Given the description of an element on the screen output the (x, y) to click on. 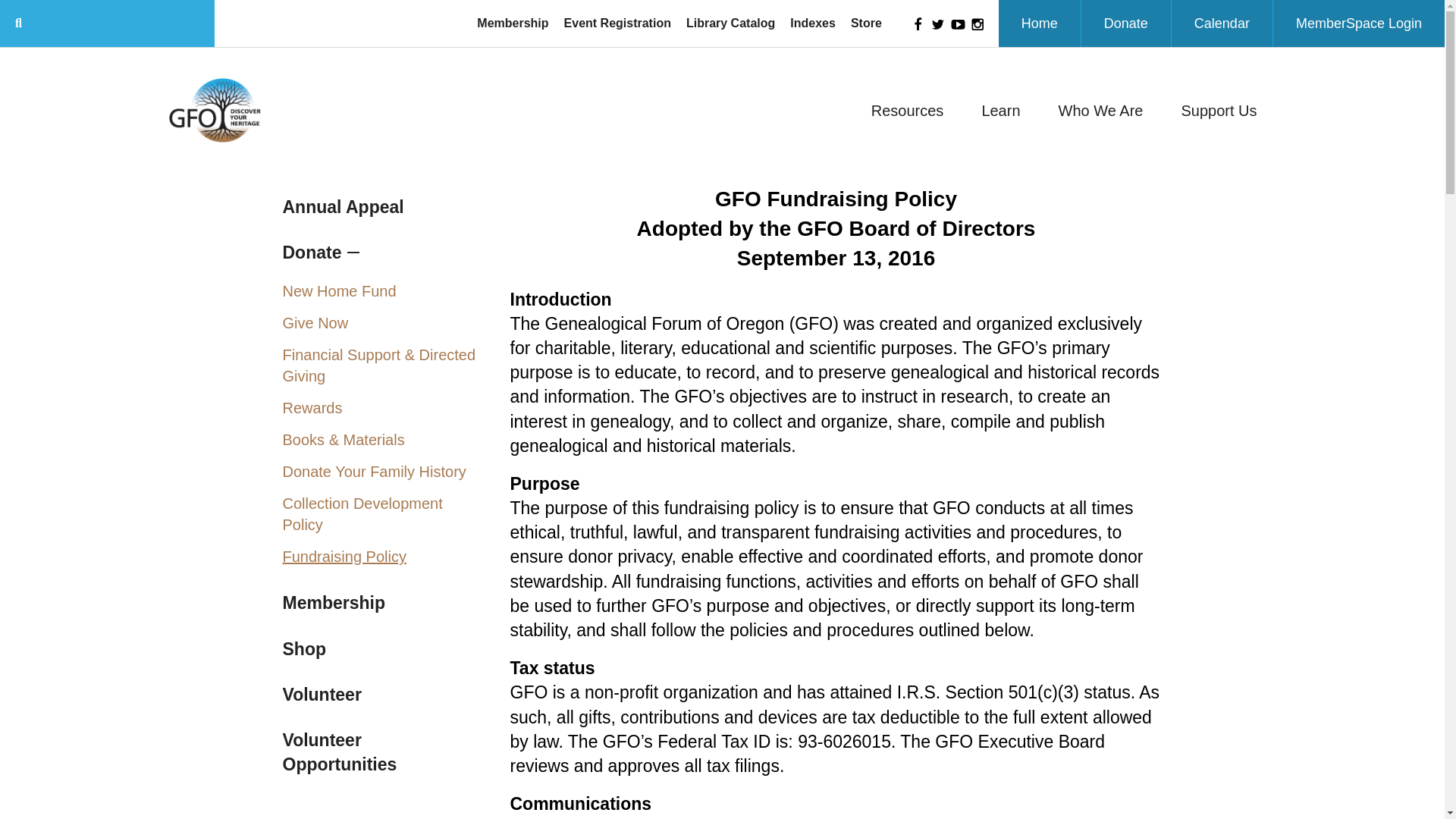
Indexes (813, 22)
Home (1039, 23)
Store (866, 22)
logo (214, 109)
Library Catalog (730, 22)
Membership (512, 22)
Event Registration (617, 22)
Donate (1125, 23)
Calendar (1222, 23)
